Given the description of an element on the screen output the (x, y) to click on. 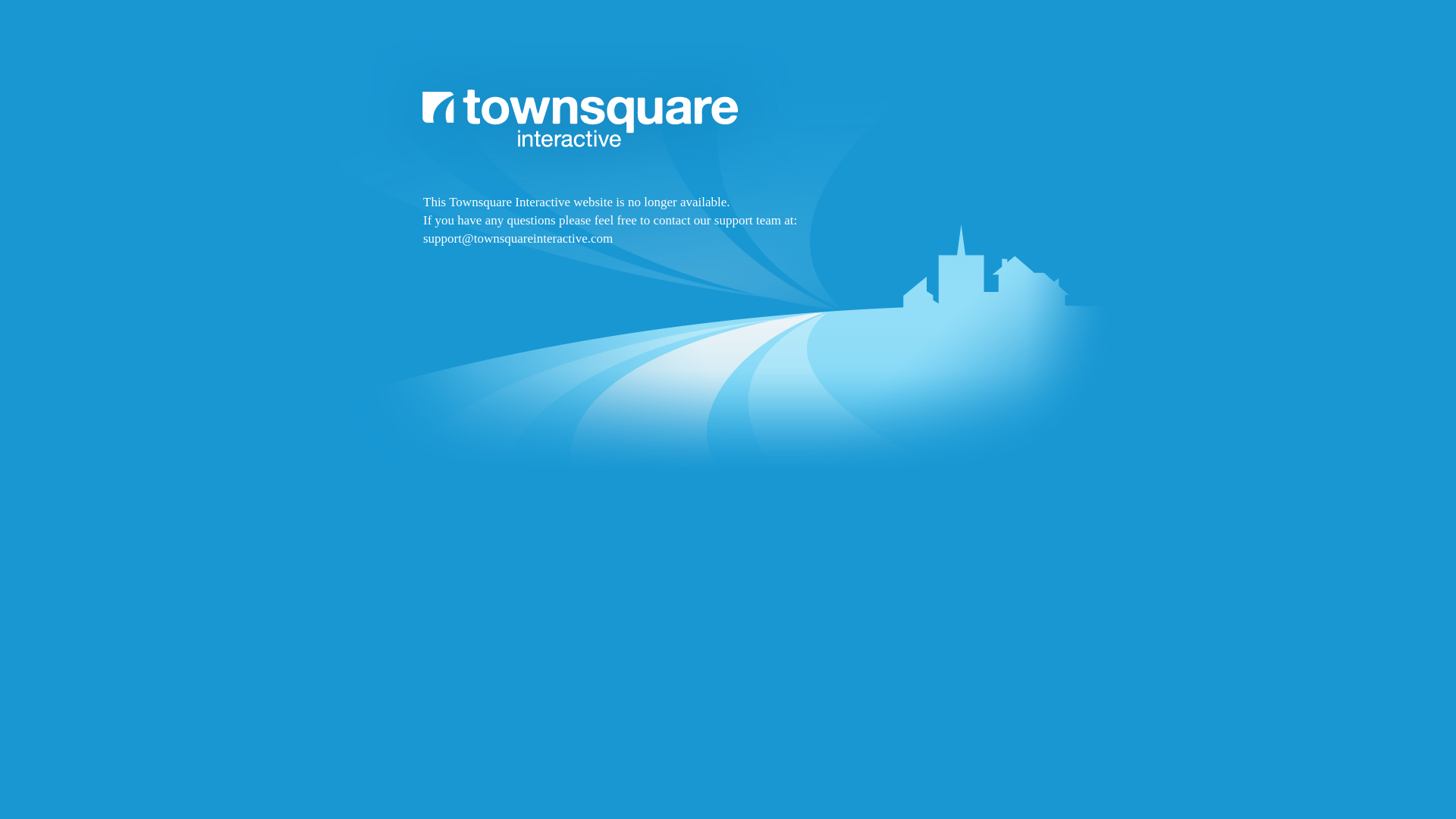
Townsquare Interactive Element type: hover (727, 297)
